Given the description of an element on the screen output the (x, y) to click on. 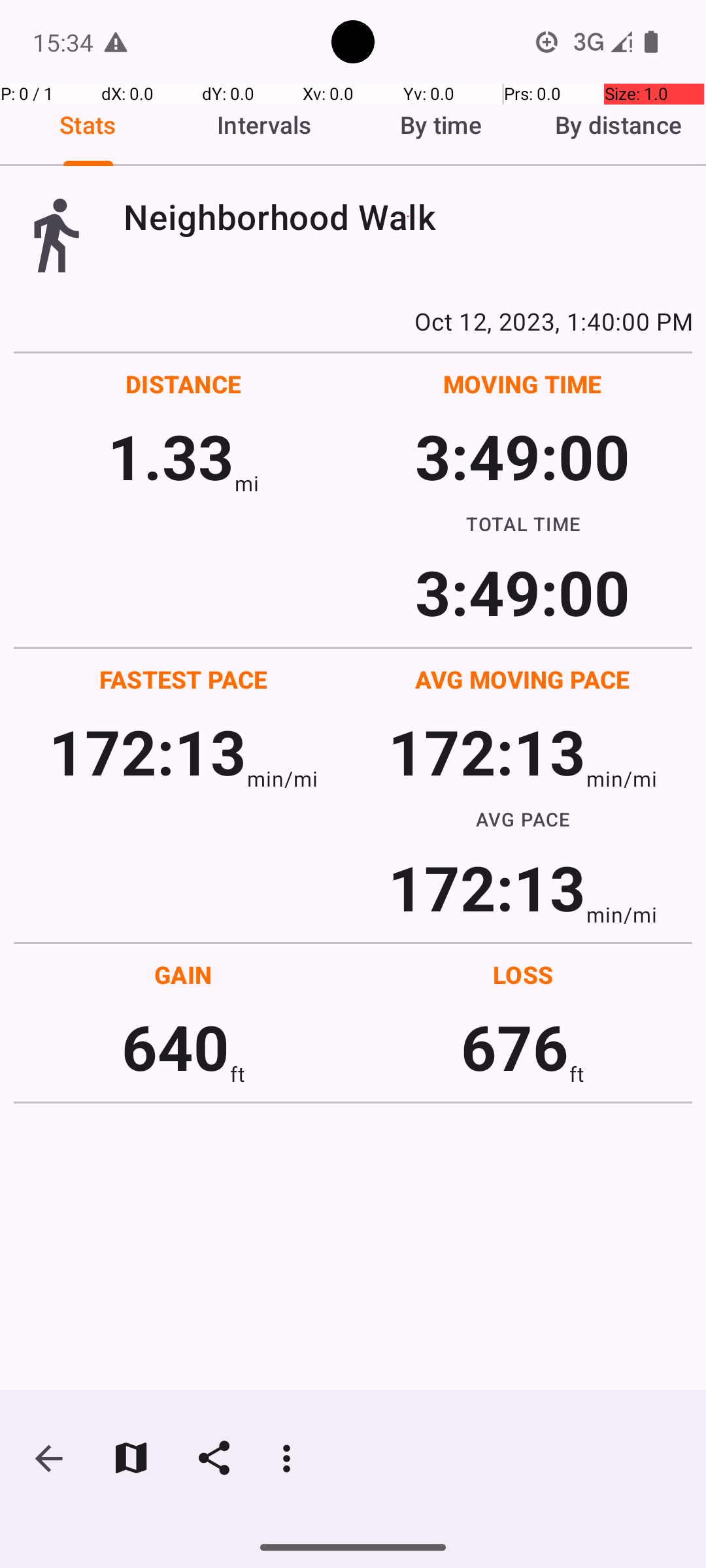
Neighborhood Walk Element type: android.widget.TextView (407, 216)
Oct 12, 2023, 1:40:00 PM Element type: android.widget.TextView (352, 320)
MOVING TIME Element type: android.widget.TextView (522, 383)
1.33 Element type: android.widget.TextView (170, 455)
mi Element type: android.widget.TextView (246, 483)
3:49:00 Element type: android.widget.TextView (522, 455)
TOTAL TIME Element type: android.widget.TextView (522, 523)
FASTEST PACE Element type: android.widget.TextView (183, 678)
AVG MOVING PACE Element type: android.widget.TextView (522, 678)
172:13 Element type: android.widget.TextView (147, 750)
min/mi Element type: android.widget.TextView (282, 778)
AVG PACE Element type: android.widget.TextView (522, 818)
GAIN Element type: android.widget.TextView (183, 974)
LOSS Element type: android.widget.TextView (522, 974)
640 Element type: android.widget.TextView (175, 1045)
ft Element type: android.widget.TextView (237, 1073)
676 Element type: android.widget.TextView (514, 1045)
